Given the description of an element on the screen output the (x, y) to click on. 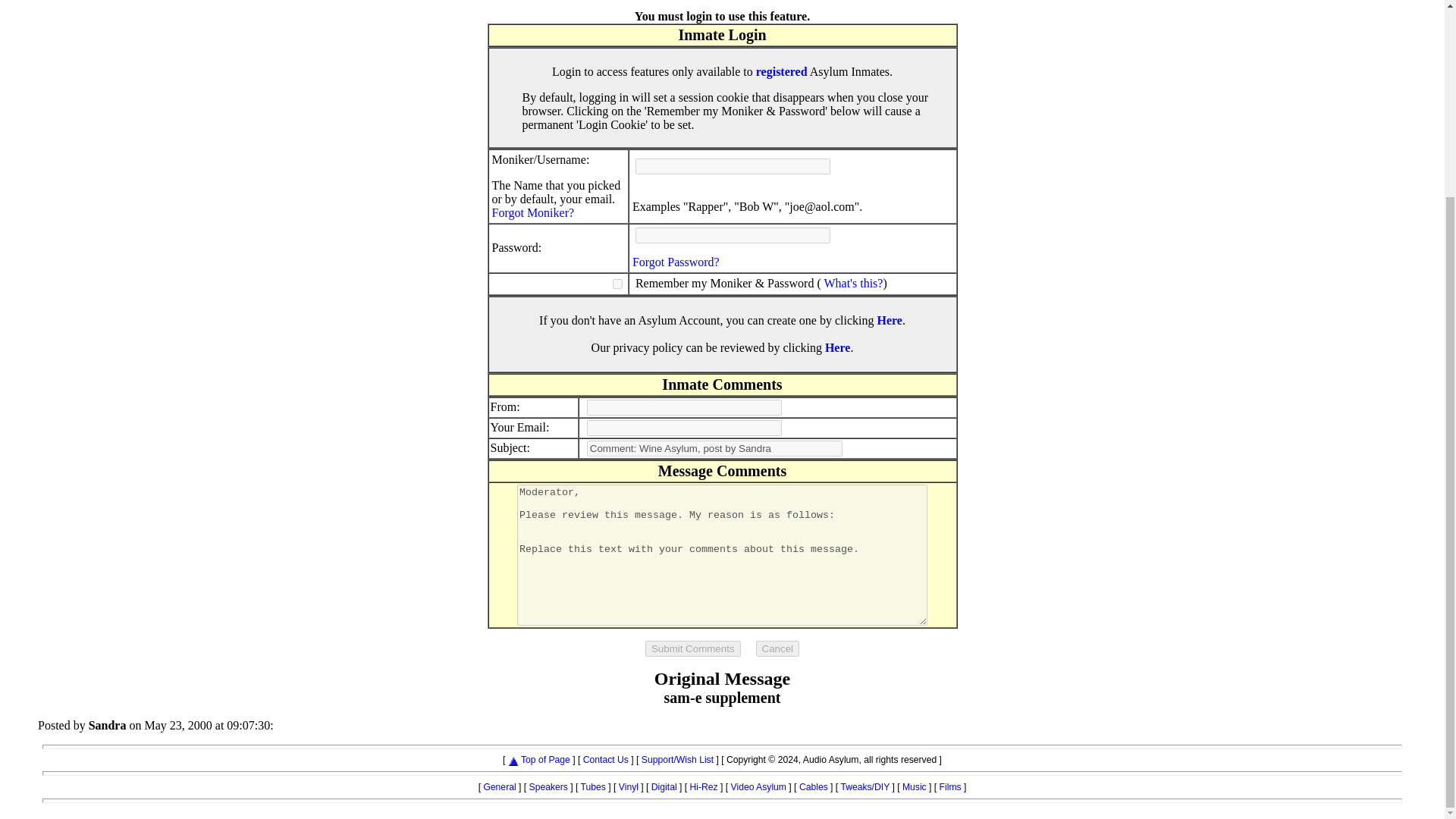
Submit Comments (693, 648)
Cancel (777, 648)
Y (617, 284)
Comment: Wine Asylum, post by Sandra (714, 448)
